Given the description of an element on the screen output the (x, y) to click on. 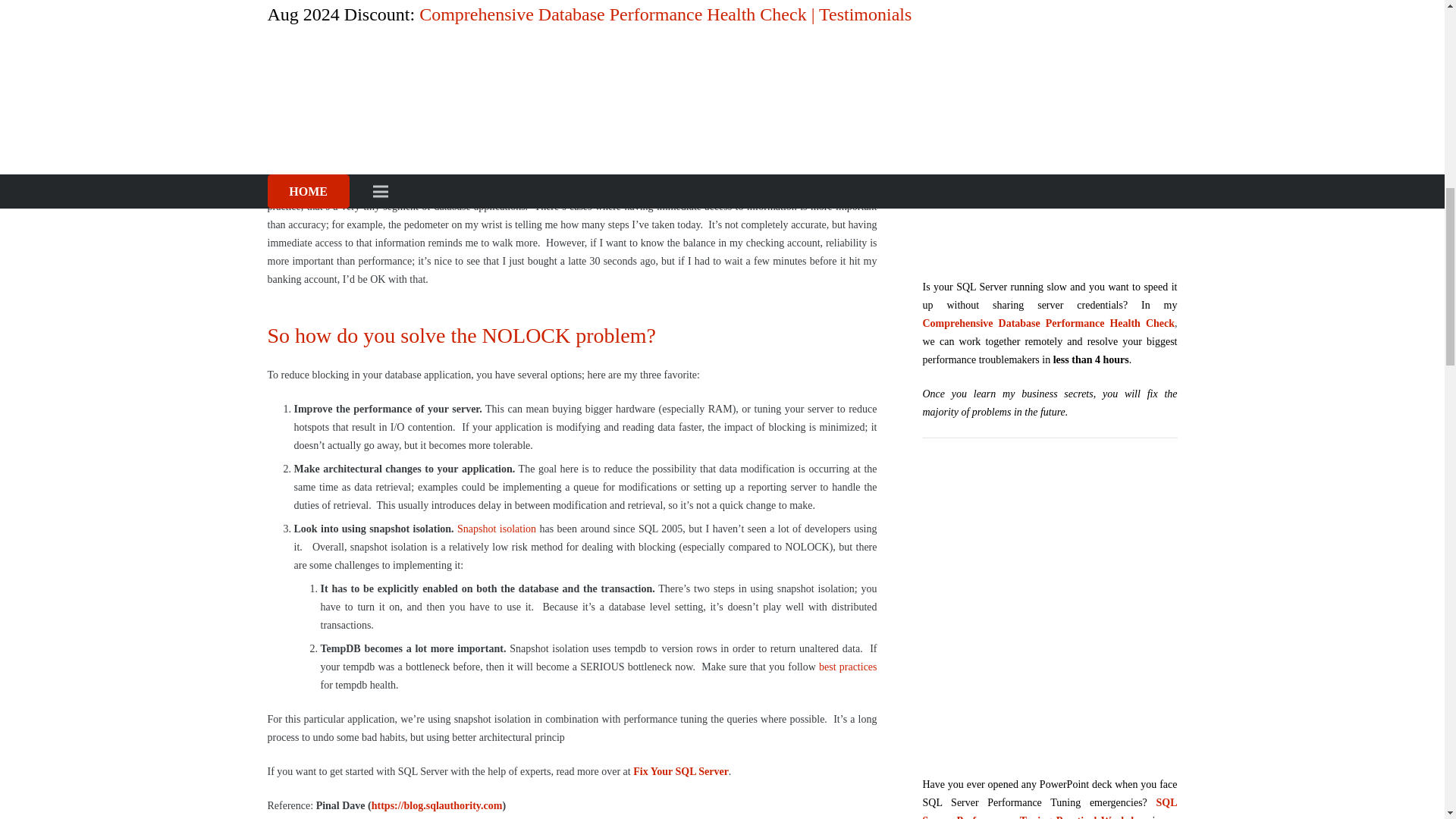
Comprehensive Database Performance Health Check (1048, 128)
Back to top (1413, 26)
best practices (847, 666)
Snapshot isolation (496, 528)
you can miss previously committed rows (400, 153)
Fix Your SQL Server (681, 771)
